Given the description of an element on the screen output the (x, y) to click on. 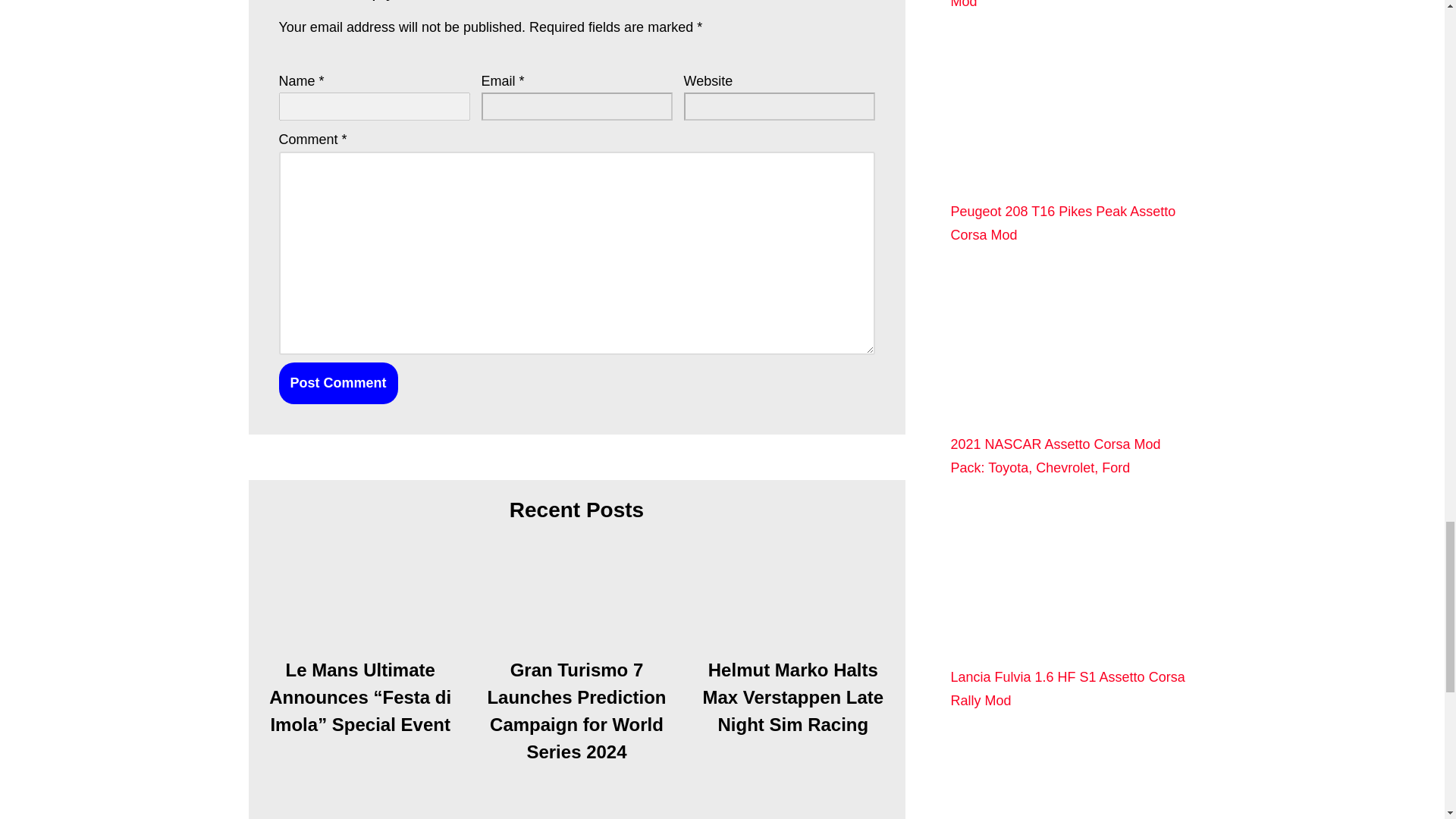
Helmut Marko Halts Max Verstappen Late Night Sim Racing (792, 601)
Post Comment (338, 383)
